Given the description of an element on the screen output the (x, y) to click on. 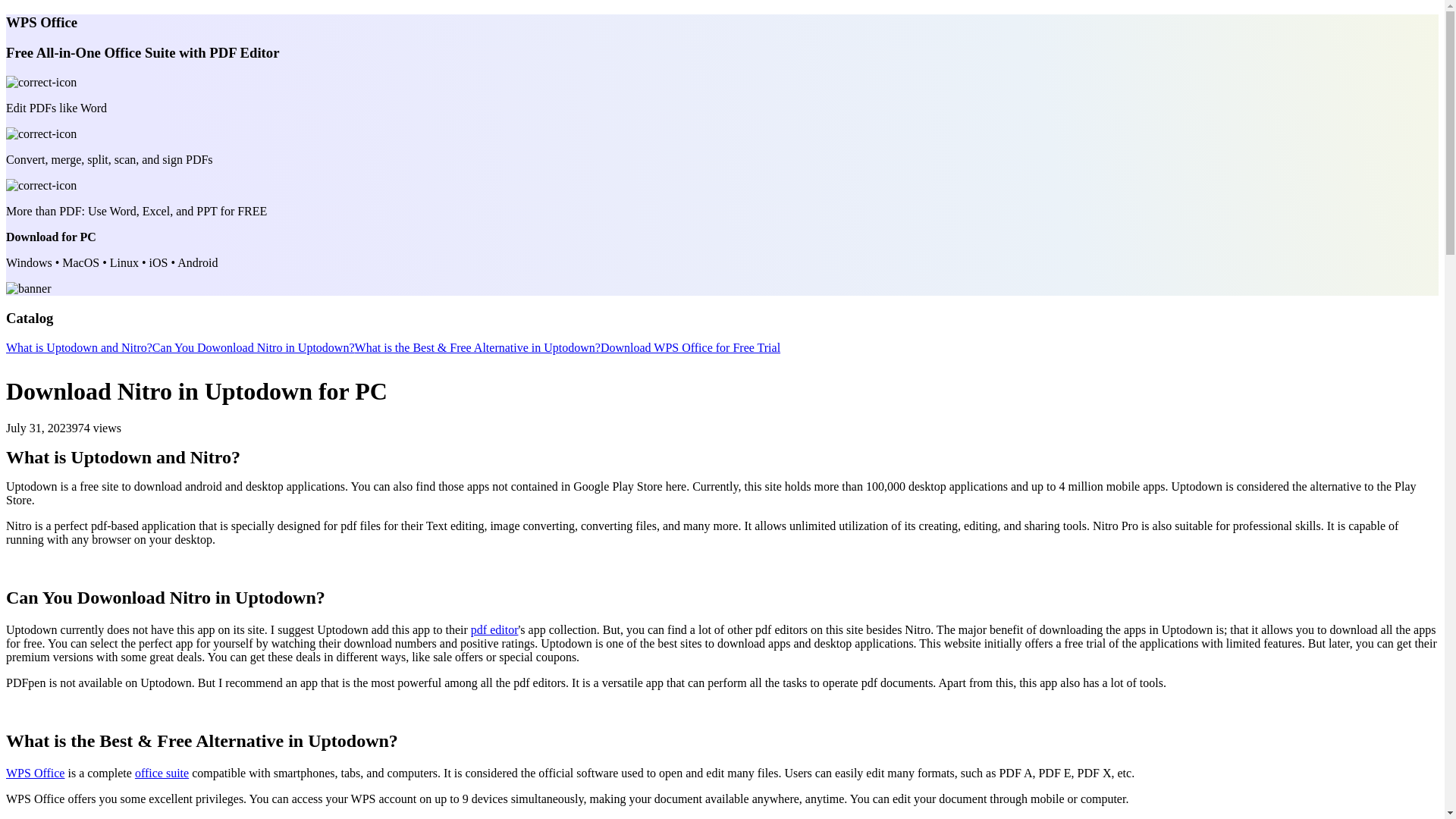
View WPS Office (34, 772)
What is Uptodown and Nitro? (78, 347)
Download WPS Office for Free Trial (689, 347)
office suite (162, 772)
Can You Dowonload Nitro in Uptodown? (253, 347)
pdf editor (494, 629)
View pdf editor (494, 629)
View office suite (162, 772)
WPS Office (34, 772)
